Given the description of an element on the screen output the (x, y) to click on. 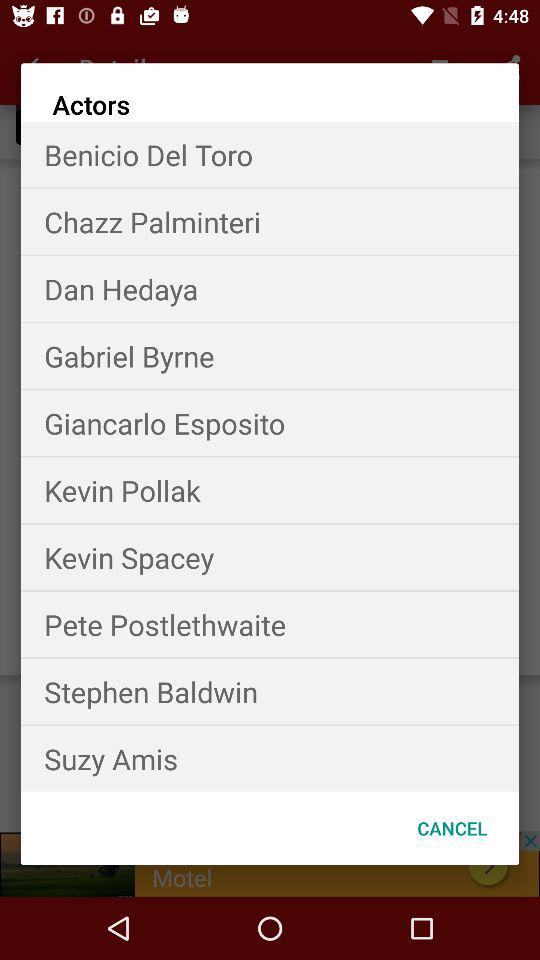
tap icon below    gabriel byrne icon (269, 422)
